Given the description of an element on the screen output the (x, y) to click on. 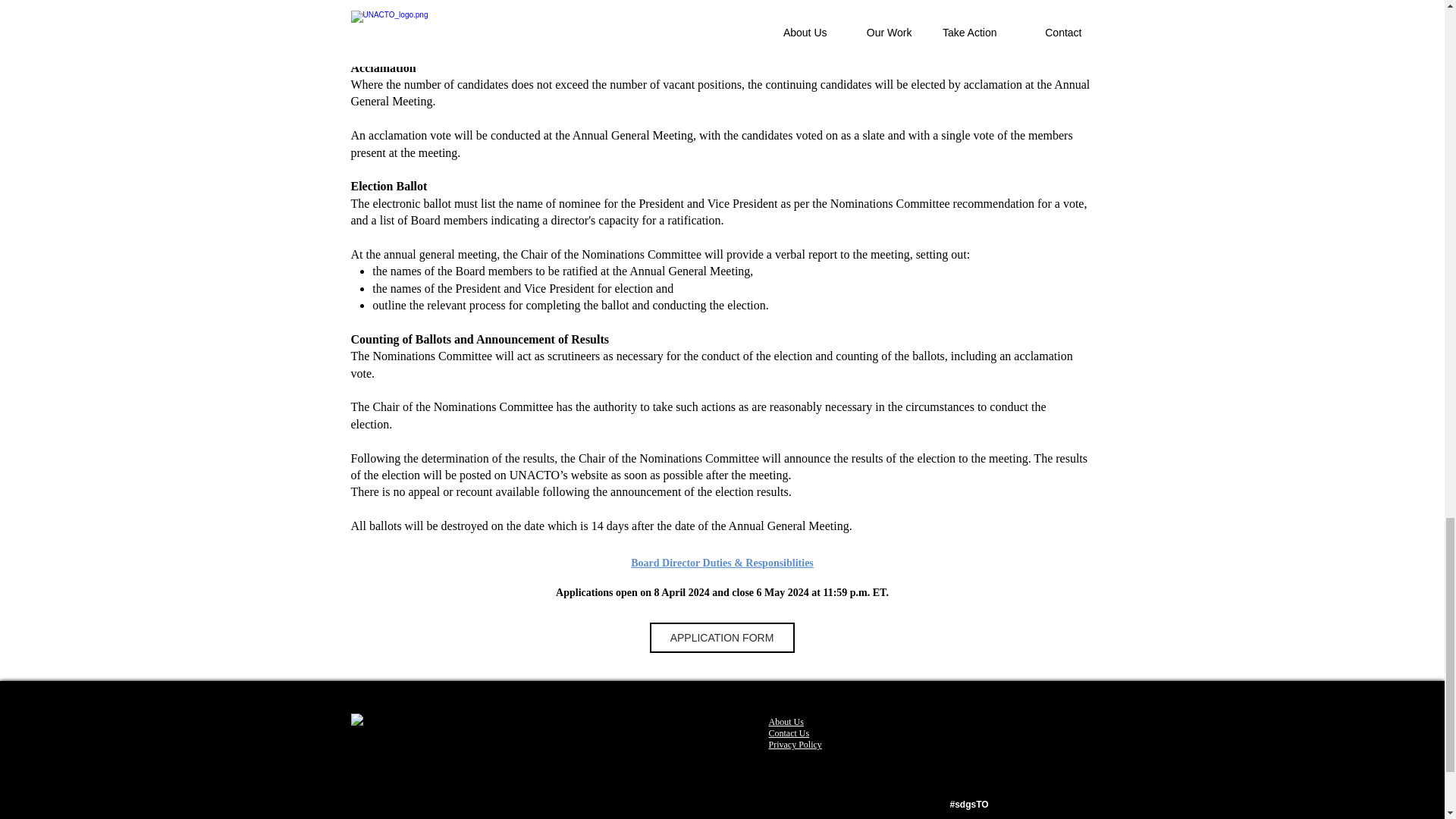
Contact Us (788, 733)
APPLICATION FORM (721, 637)
Privacy Policy (795, 744)
About Us (785, 721)
